Given the description of an element on the screen output the (x, y) to click on. 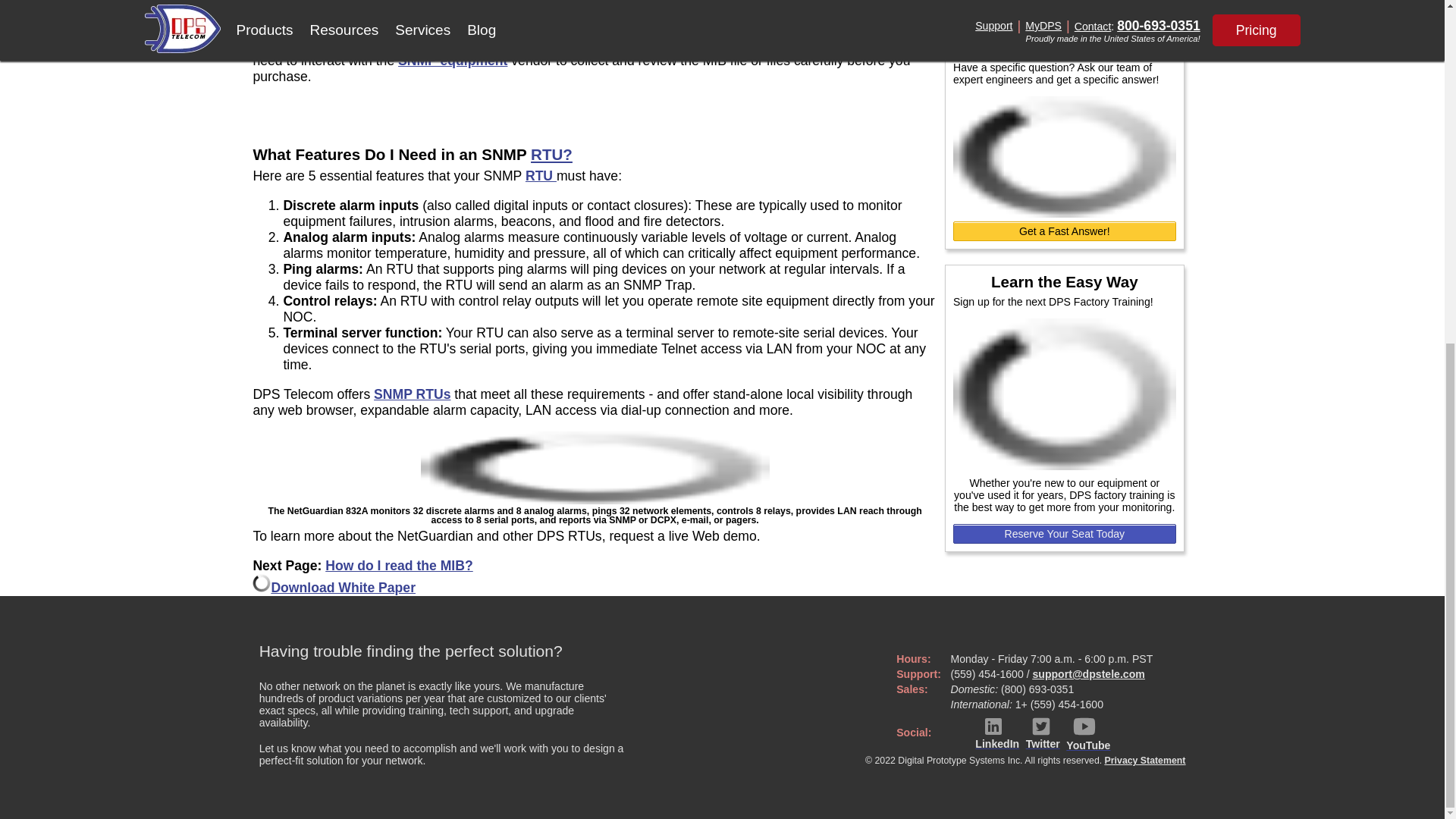
Download White Paper (342, 587)
RTU? (551, 153)
Privacy Statement (1145, 760)
How do I read the MIB? (398, 565)
SNMP monitoring (469, 28)
RTU (540, 175)
LinkedIn (997, 732)
SNMP RTUs (411, 394)
YouTube (1087, 732)
Twitter (1042, 732)
